Given the description of an element on the screen output the (x, y) to click on. 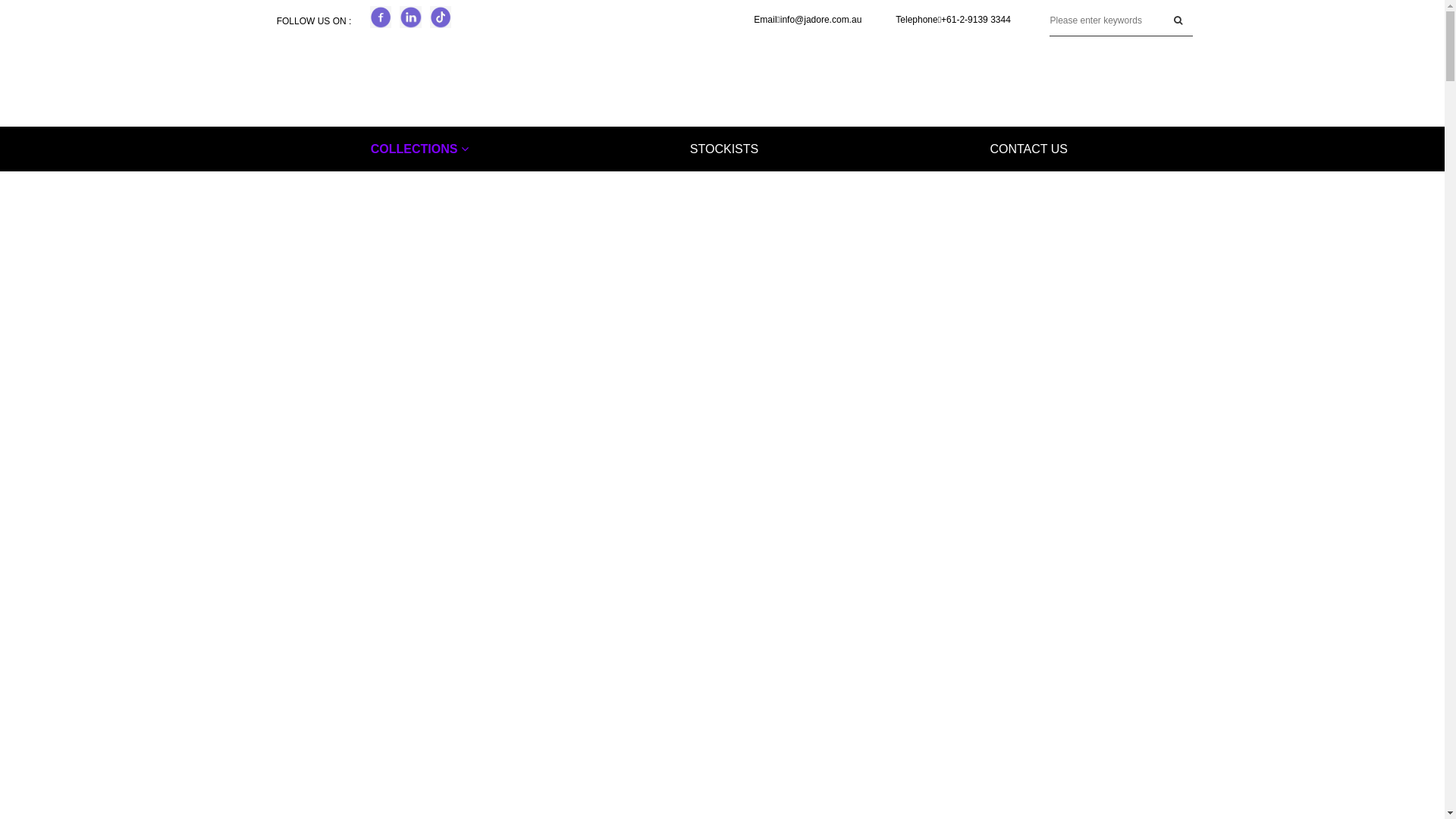
FOLLOW US ON : Element type: text (313, 20)
Jadore Evening Element type: hover (722, 80)
COLLECTIONS Element type: text (418, 149)
CONTACT US Element type: text (1028, 149)
STOCKISTS Element type: text (723, 149)
